Given the description of an element on the screen output the (x, y) to click on. 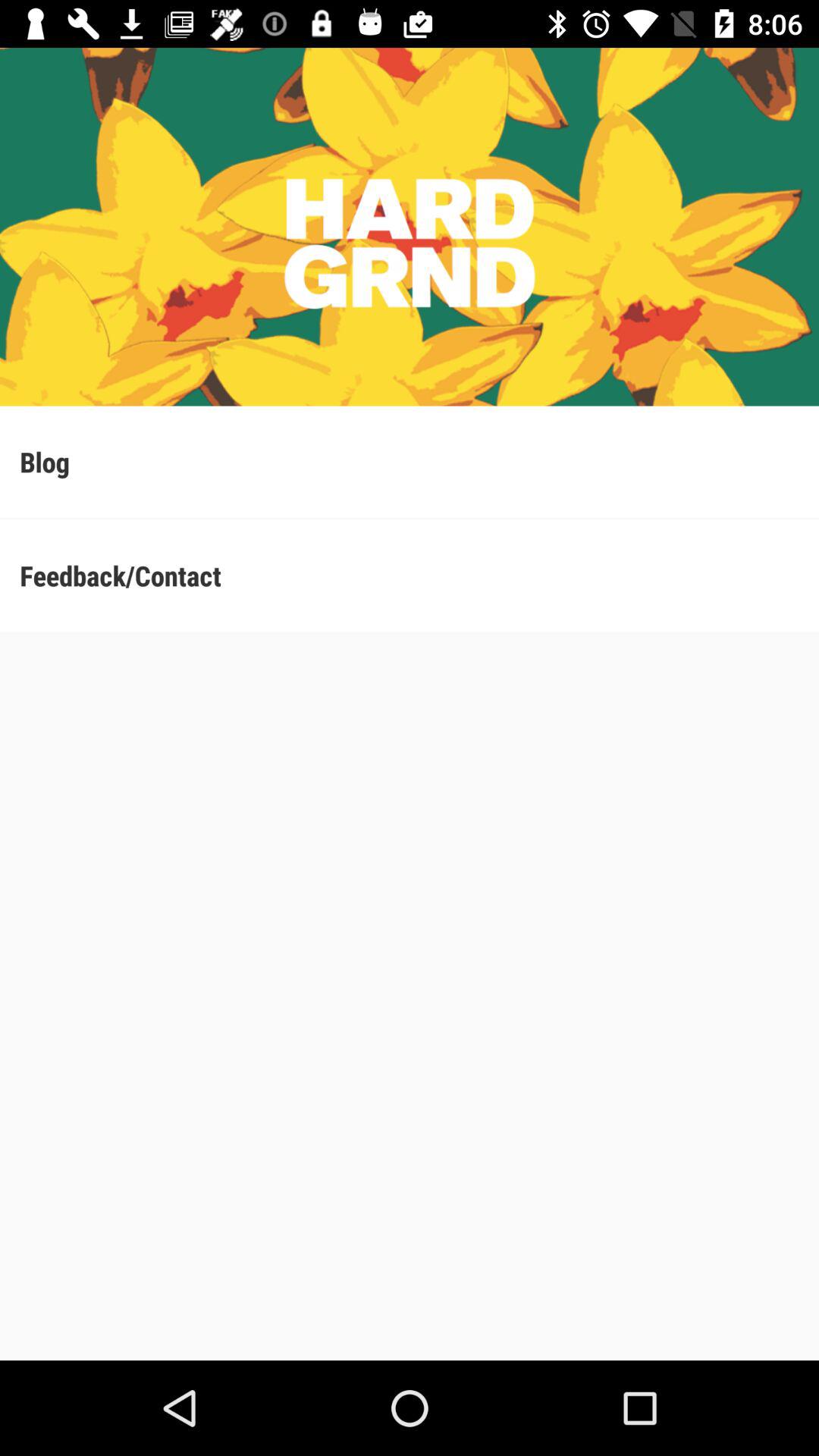
scroll to the feedback/contact (409, 575)
